Given the description of an element on the screen output the (x, y) to click on. 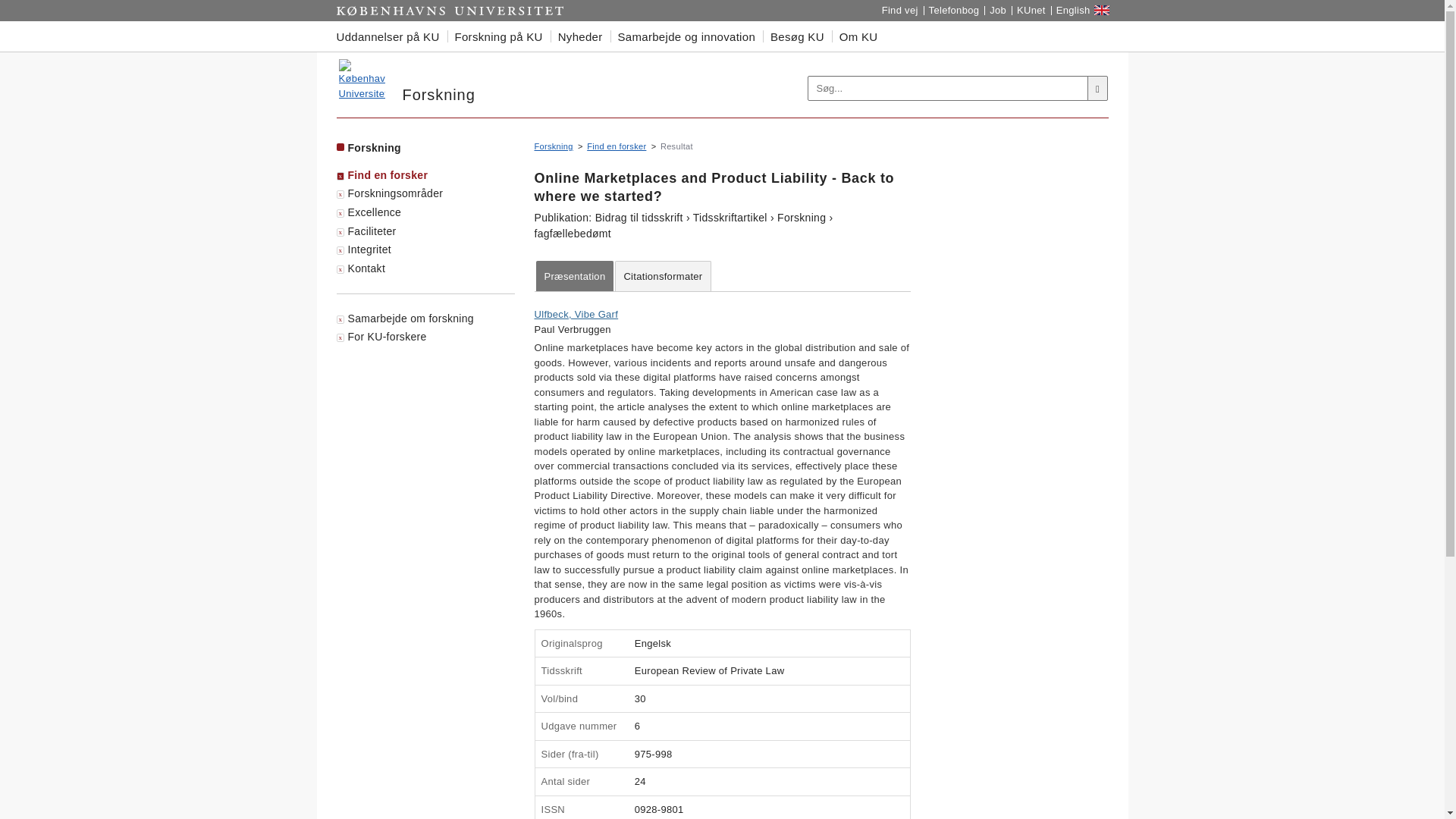
KUnet (1031, 10)
English (1073, 10)
Telefonbog (954, 10)
Nyheder (580, 36)
Start (450, 10)
Find vej (899, 10)
Job (997, 10)
Samarbejde og innovation (686, 36)
Forskning (360, 79)
Find en forsker (616, 145)
